Given the description of an element on the screen output the (x, y) to click on. 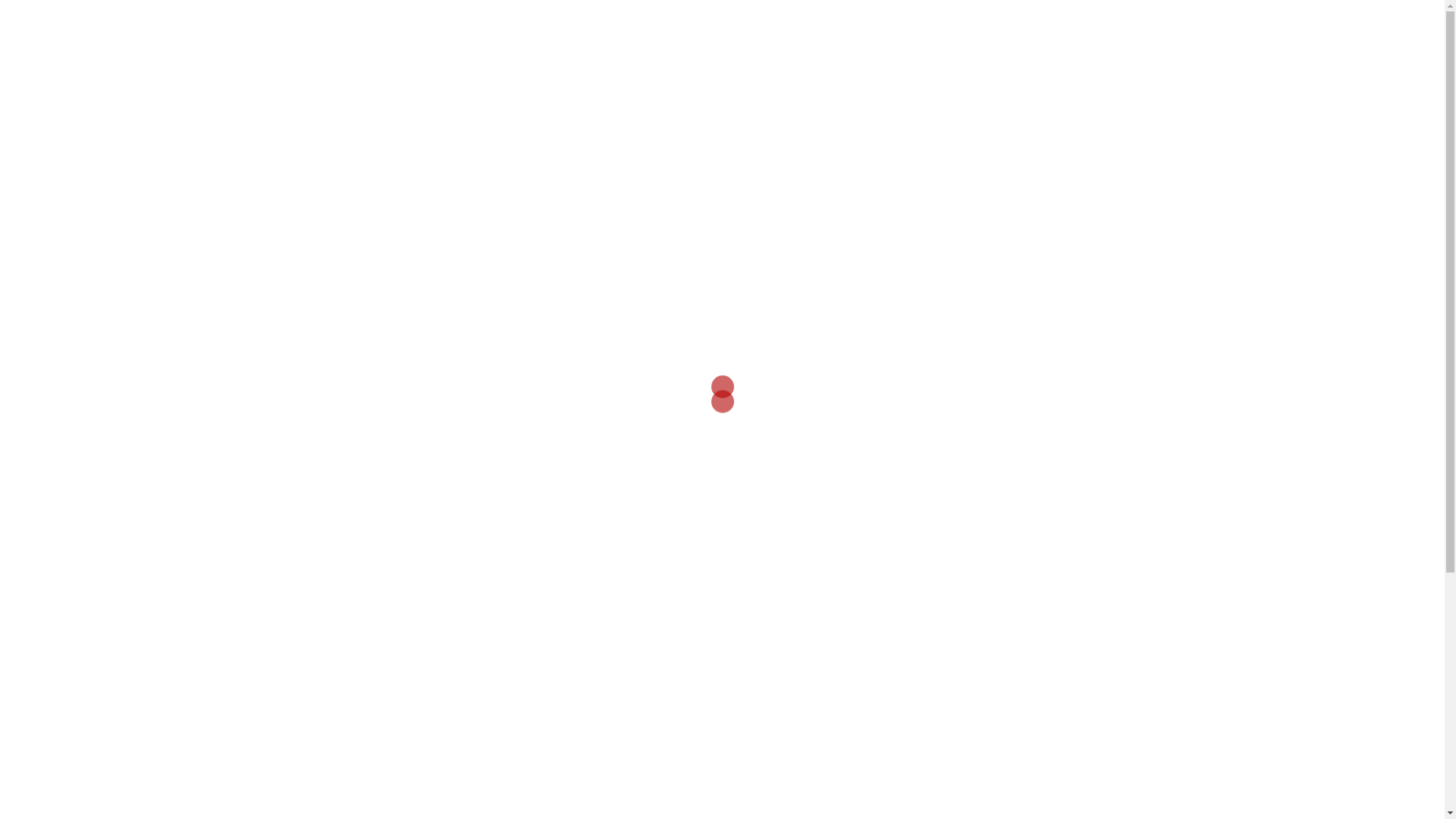
SUBMIT Element type: text (336, 684)
About Us Element type: text (1038, 27)
Contact Us Element type: text (1114, 27)
Home Element type: text (842, 27)
Gallery Element type: text (971, 27)
Facebook Element type: text (905, 27)
GM Rendering Element type: hover (321, 26)
